Given the description of an element on the screen output the (x, y) to click on. 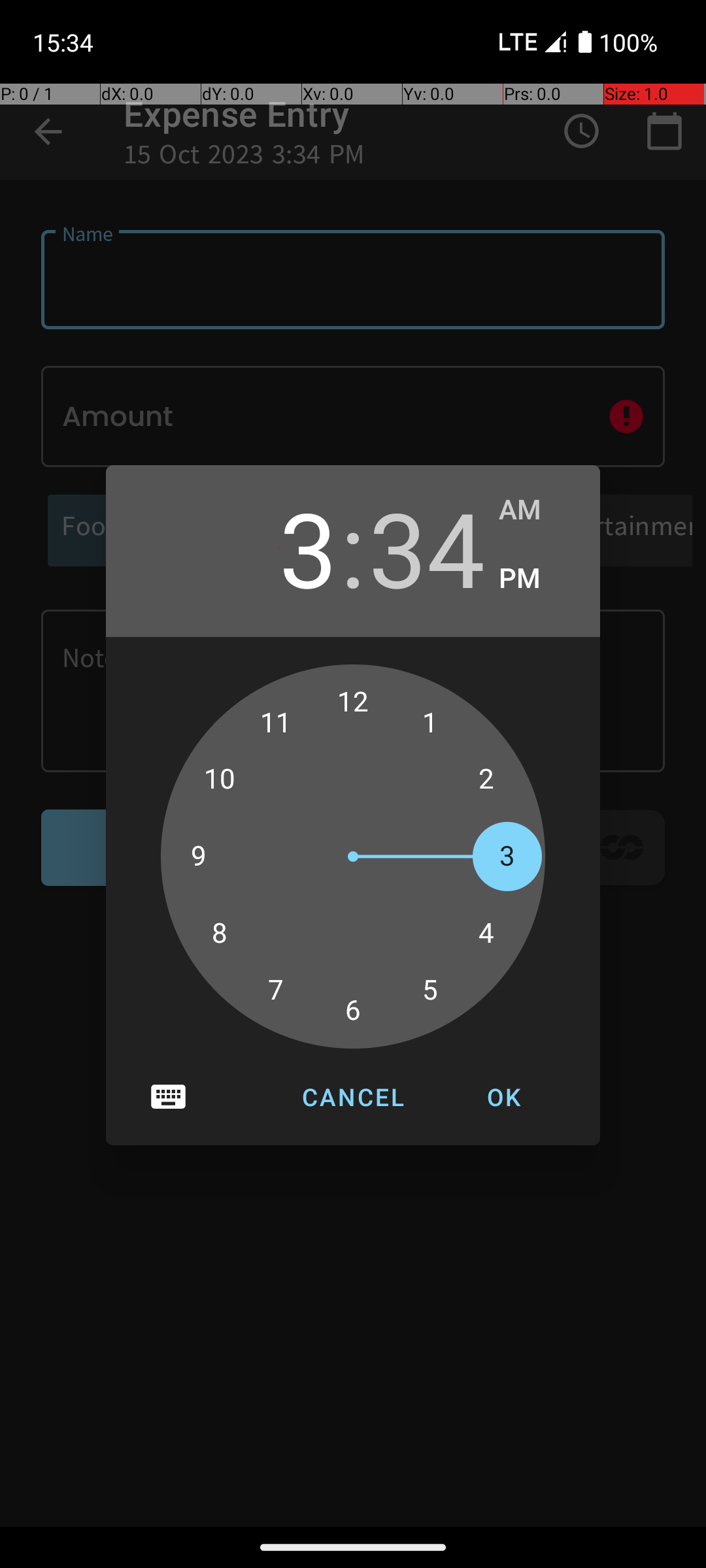
34 Element type: android.widget.TextView (426, 547)
